Given the description of an element on the screen output the (x, y) to click on. 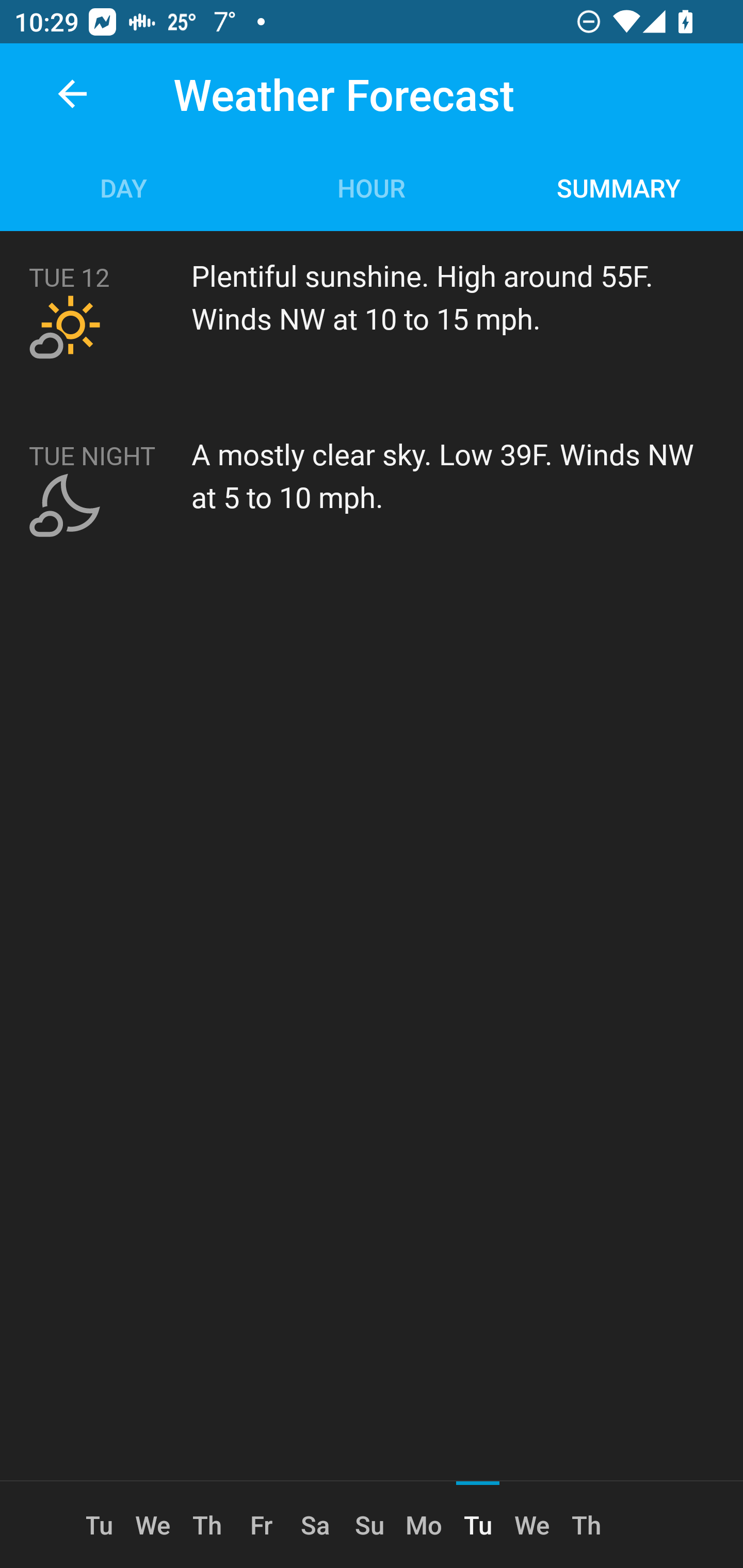
back (71, 93)
Day Tab DAY (123, 187)
Hour Tab HOUR (371, 187)
Tu (105, 1524)
We (152, 1524)
Th (206, 1524)
Fr (261, 1524)
Sa (315, 1524)
Su (369, 1524)
Mo (423, 1524)
We (532, 1524)
Th (586, 1524)
